Given the description of an element on the screen output the (x, y) to click on. 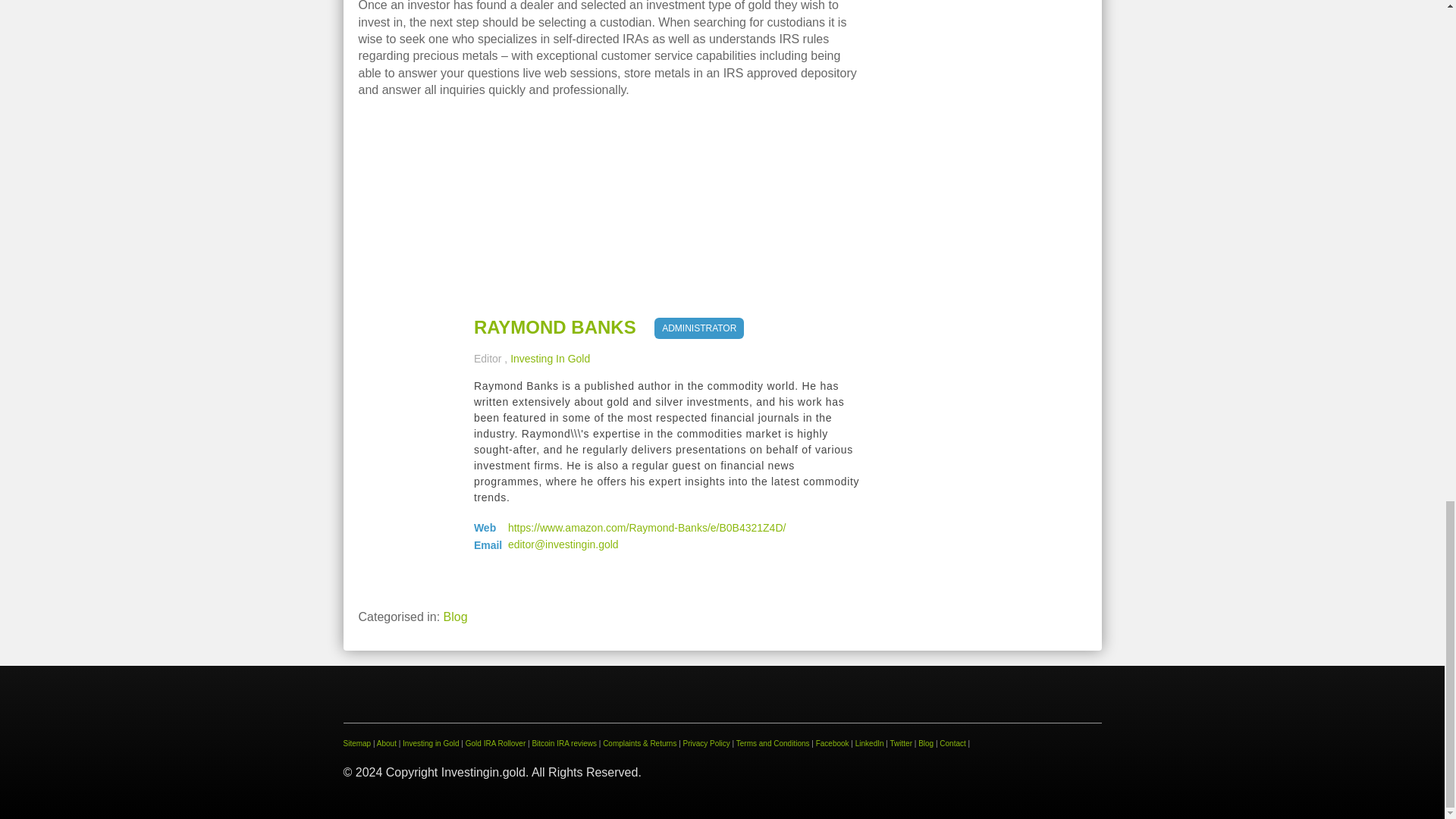
RAYMOND BANKS (555, 327)
Facebook (831, 743)
Bitcoin IRA reviews (563, 743)
Twitter (900, 743)
LinkedIn (869, 743)
Sitemap (356, 743)
Terms and Conditions (772, 743)
About (386, 743)
Gold IRA Rollover (495, 743)
Investing In Gold (550, 358)
